Given the description of an element on the screen output the (x, y) to click on. 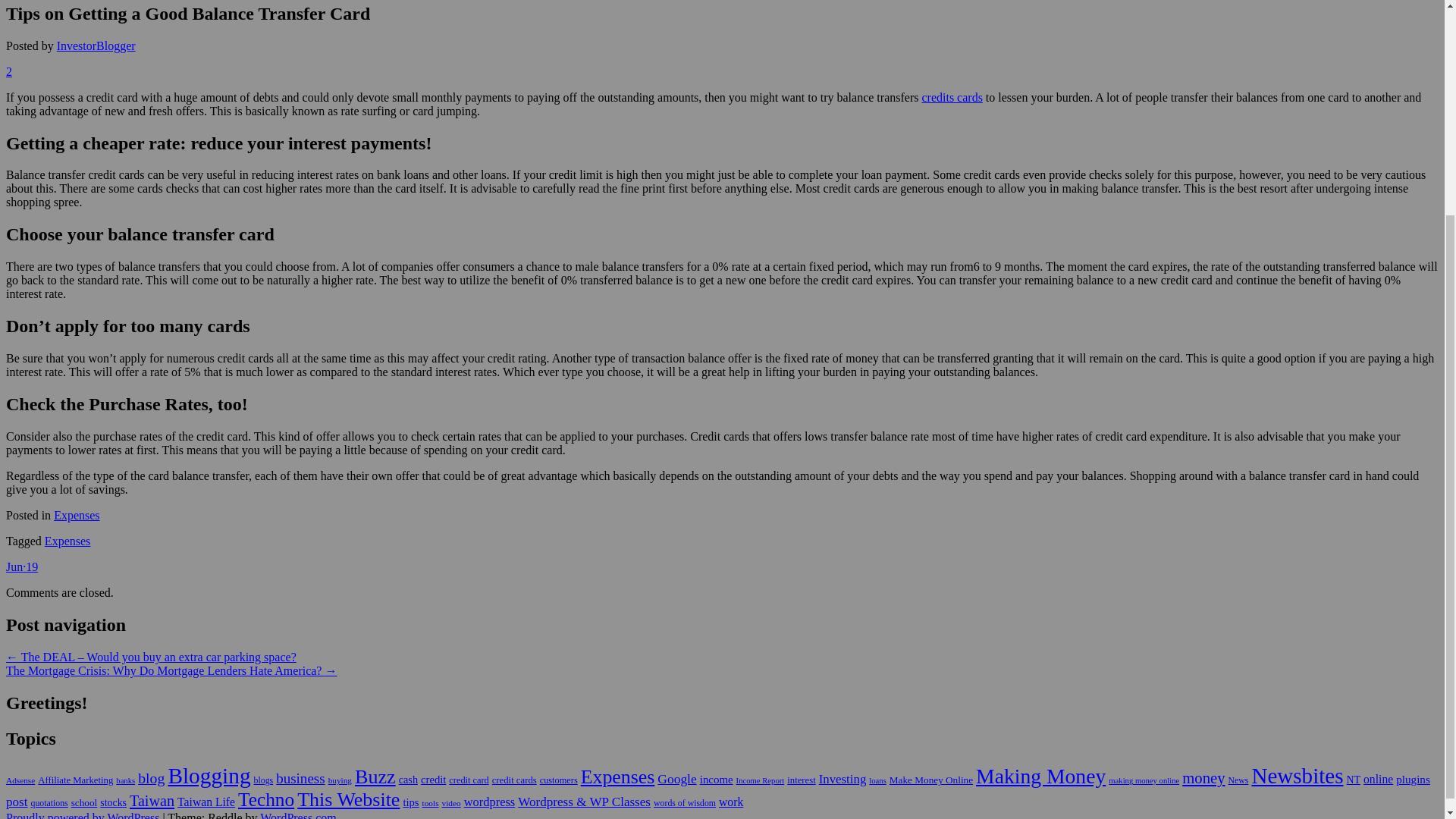
customers (559, 779)
View all posts by InvestorBlogger (95, 45)
Affiliate Marketing (75, 779)
Blogging (208, 775)
credits cards (951, 97)
Expenses (76, 514)
2 (8, 71)
Expenses (617, 776)
buying (340, 779)
Adsense (19, 779)
business (300, 778)
banks (125, 780)
Permalink to Tips on Getting a Good Balance Transfer Card (21, 566)
cash (407, 779)
Buzz (375, 776)
